Given the description of an element on the screen output the (x, y) to click on. 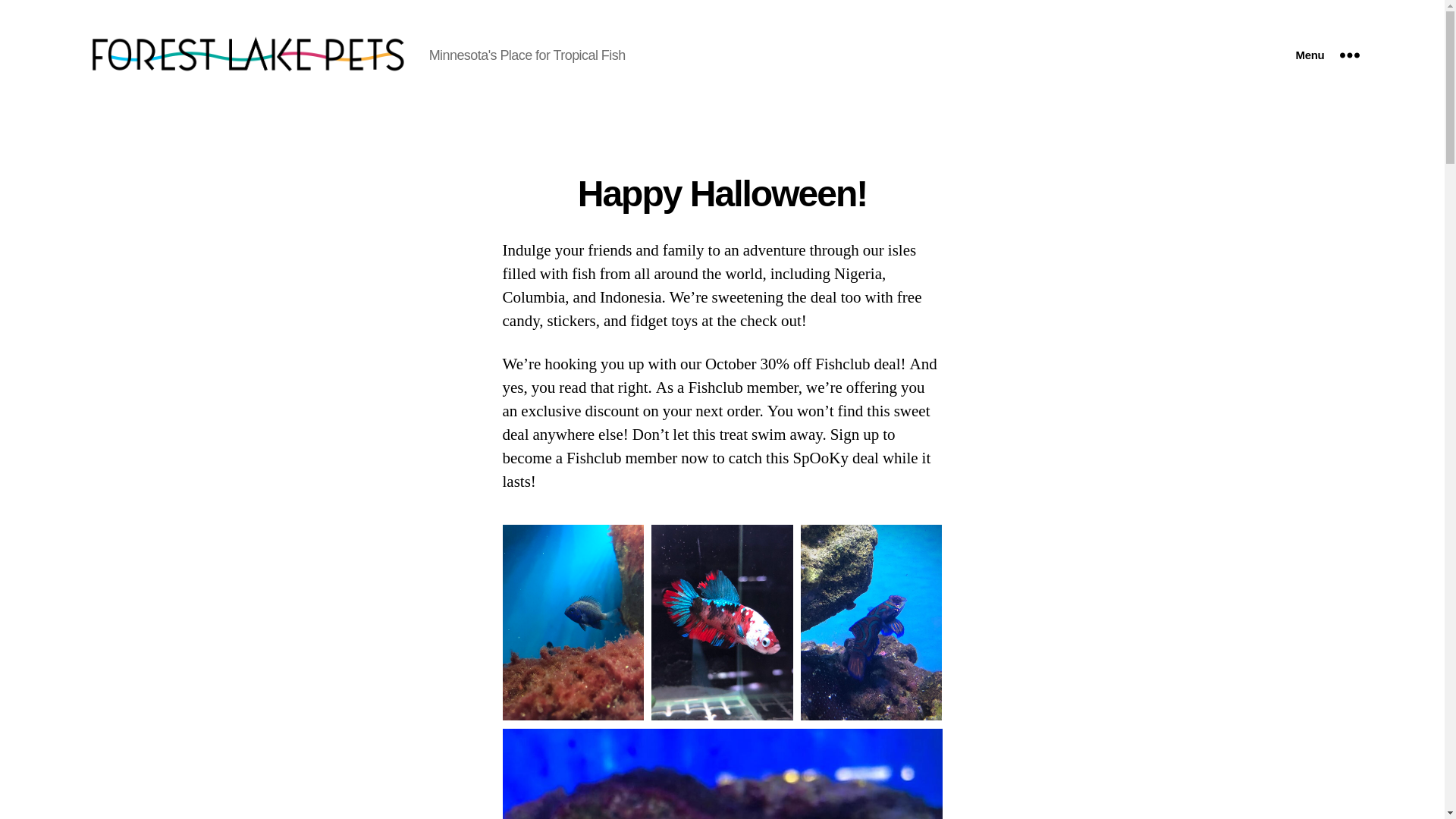
Menu (1327, 55)
